Given the description of an element on the screen output the (x, y) to click on. 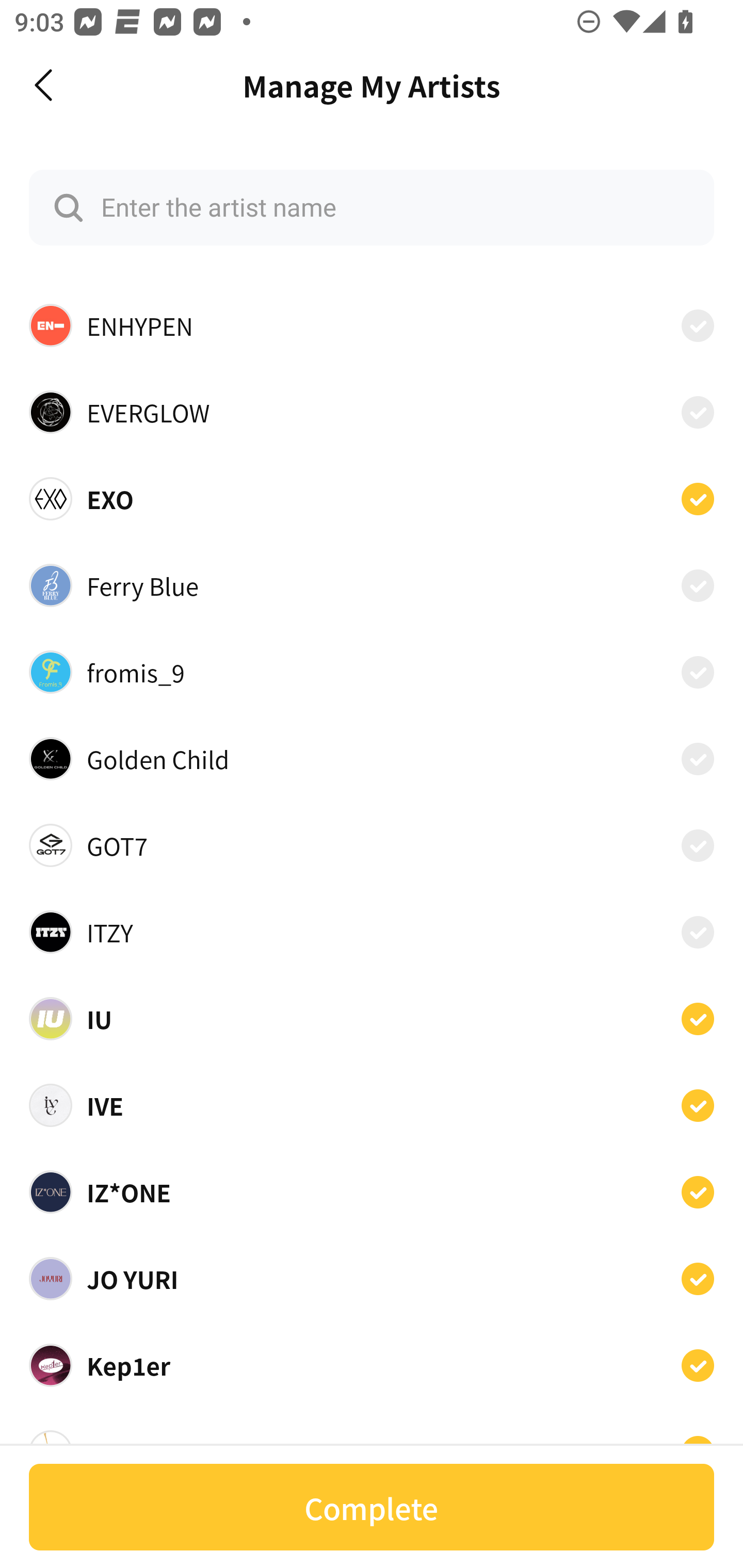
Enter the artist name (371, 207)
ENHYPEN (371, 325)
EVERGLOW (371, 412)
EXO (371, 498)
Ferry Blue (371, 585)
fromis_9 (371, 671)
Golden Child (371, 758)
GOT7 (371, 845)
ITZY (371, 932)
IU (371, 1018)
IVE (371, 1105)
IZ*ONE (371, 1191)
JO YURI (371, 1278)
Kep1er (371, 1365)
Complete (371, 1507)
